Given the description of an element on the screen output the (x, y) to click on. 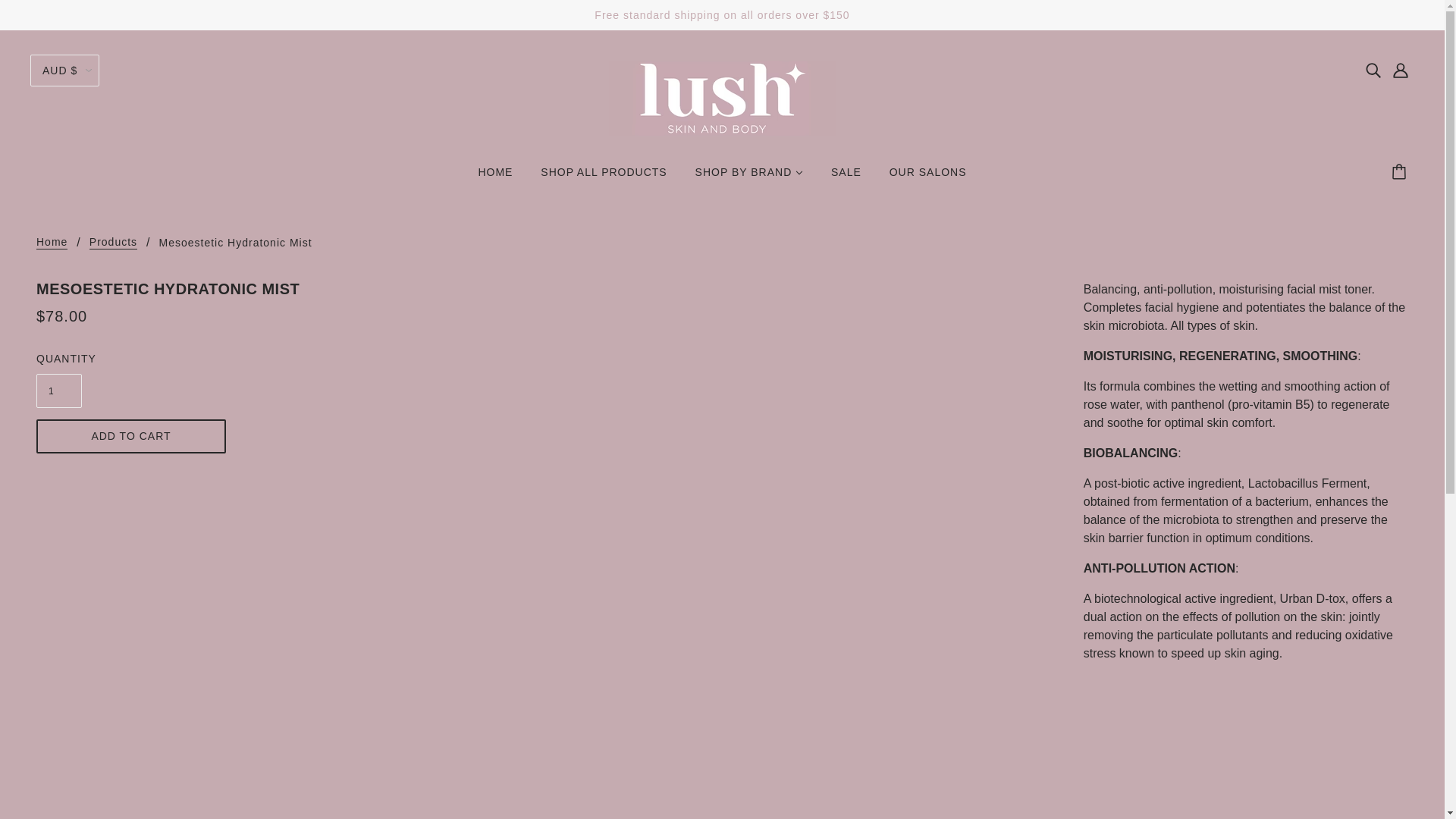
Lush Skin and Body (721, 97)
SHOP ALL PRODUCTS (603, 177)
SALE (845, 177)
HOME (494, 177)
SHOP BY BRAND (748, 177)
1 (58, 390)
